Given the description of an element on the screen output the (x, y) to click on. 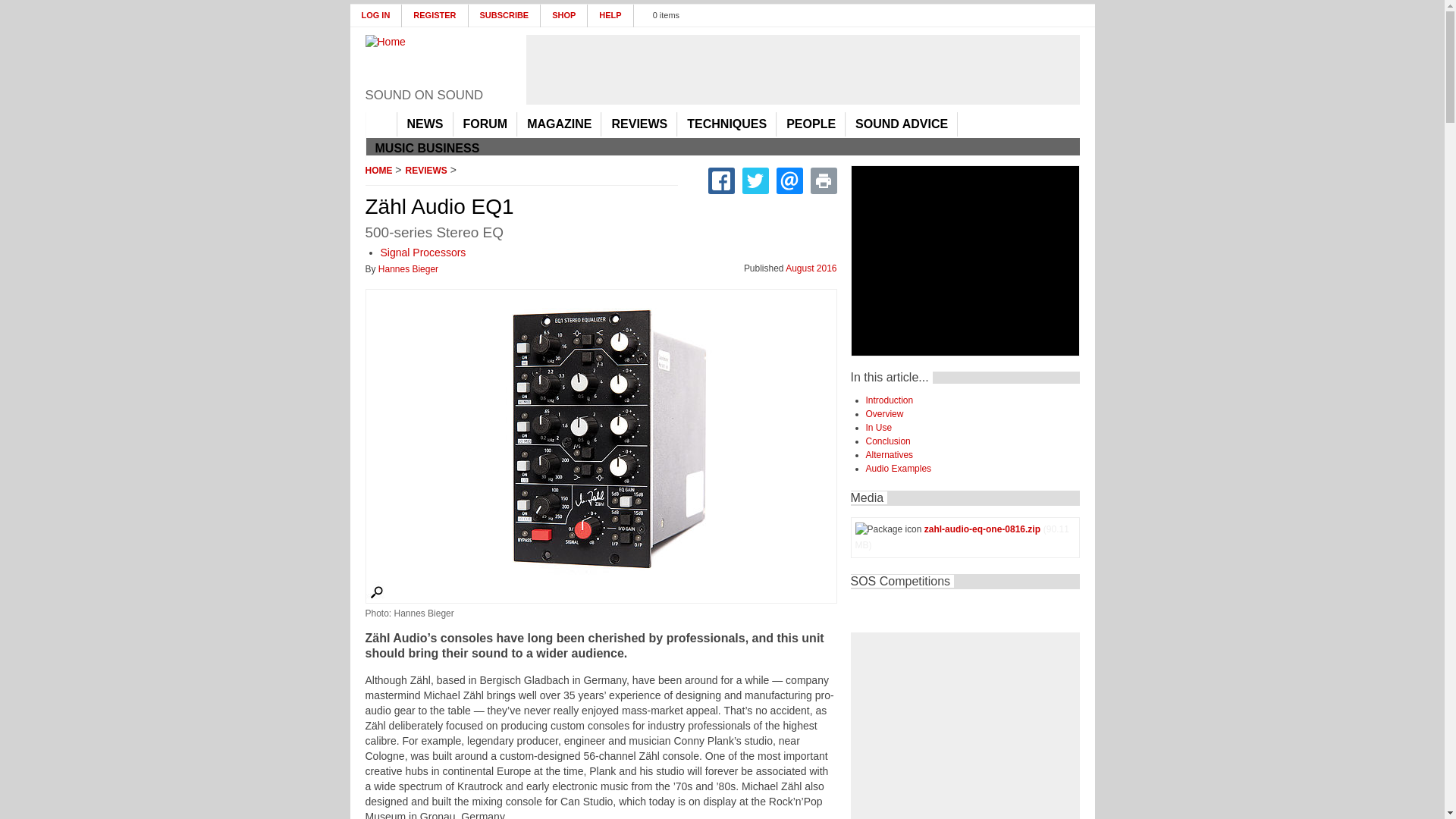
MAGAZINE (558, 124)
SHOP (564, 15)
REGISTER (434, 15)
HOME (380, 124)
NEWS (424, 124)
LOG IN (376, 15)
HELP (610, 15)
FORUM (484, 124)
SUBSCRIBE (504, 15)
Home (431, 61)
